Given the description of an element on the screen output the (x, y) to click on. 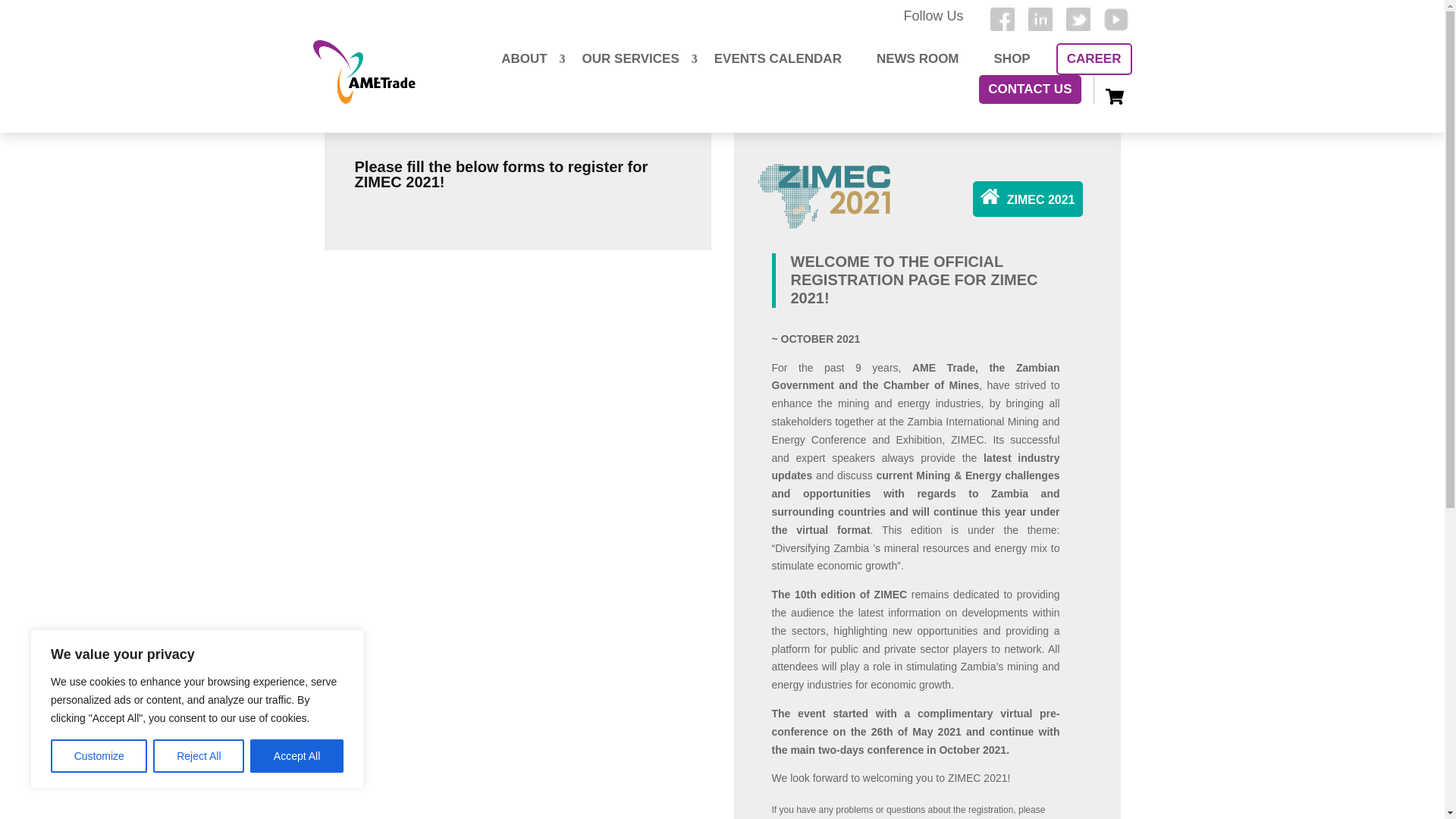
Follow on Twitter (1077, 19)
NEWS ROOM (917, 59)
ABOUT (524, 59)
CAREER (1094, 59)
Customize (98, 756)
EVENTS CALENDAR (777, 59)
CONTACT US (1029, 89)
ABOUT (523, 59)
OUR SERVICES (630, 59)
OUR SERVICES (630, 59)
Reject All (198, 756)
Follow on LinkedIn (1039, 19)
Follow on Facebook (1002, 19)
Follow on Youtube (1115, 19)
SHOP (1012, 59)
